Given the description of an element on the screen output the (x, y) to click on. 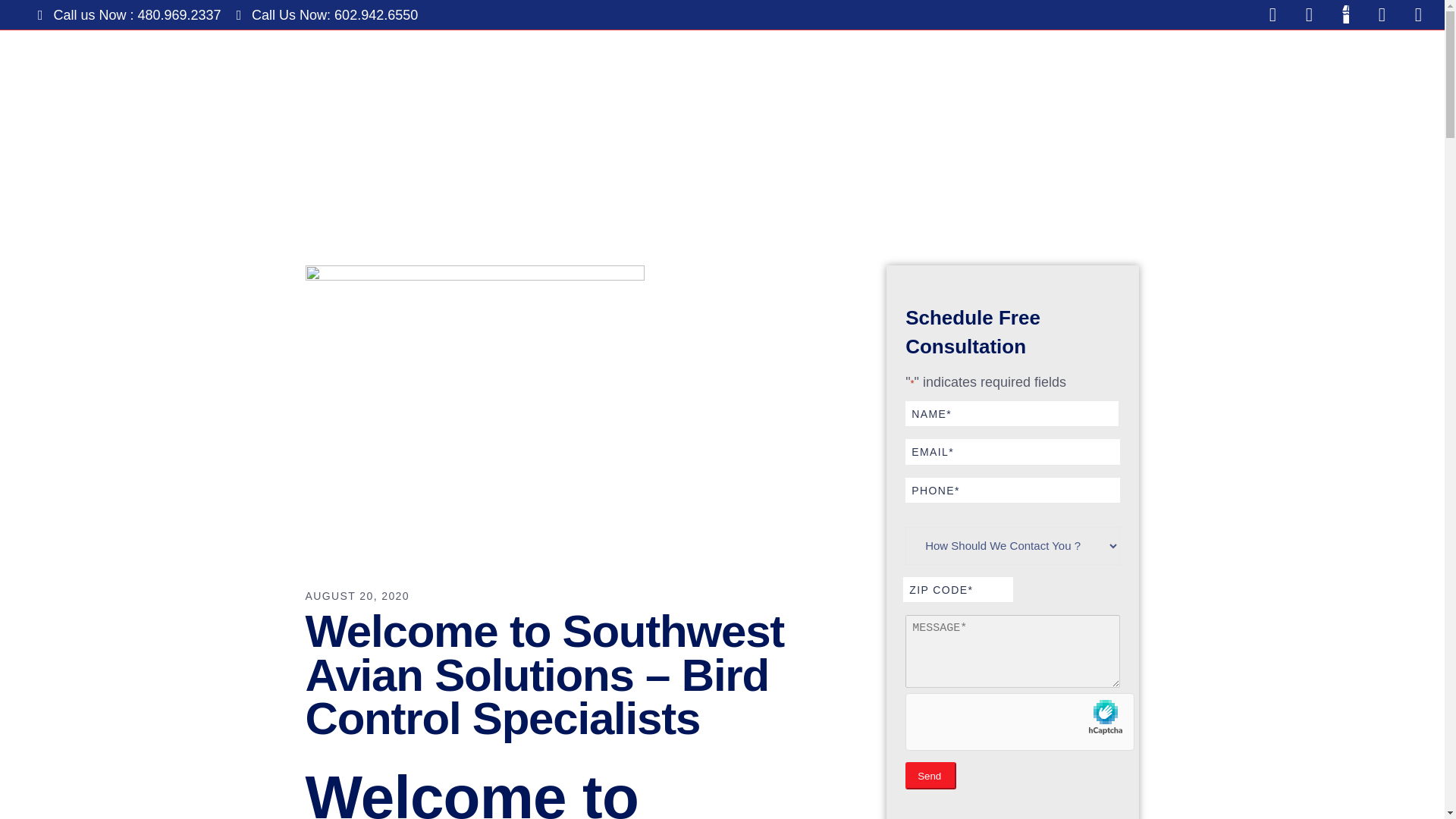
Call us Now : 480.969.2337 (129, 14)
Call Us Now: 602.942.6550 (327, 14)
Send (930, 775)
